Given the description of an element on the screen output the (x, y) to click on. 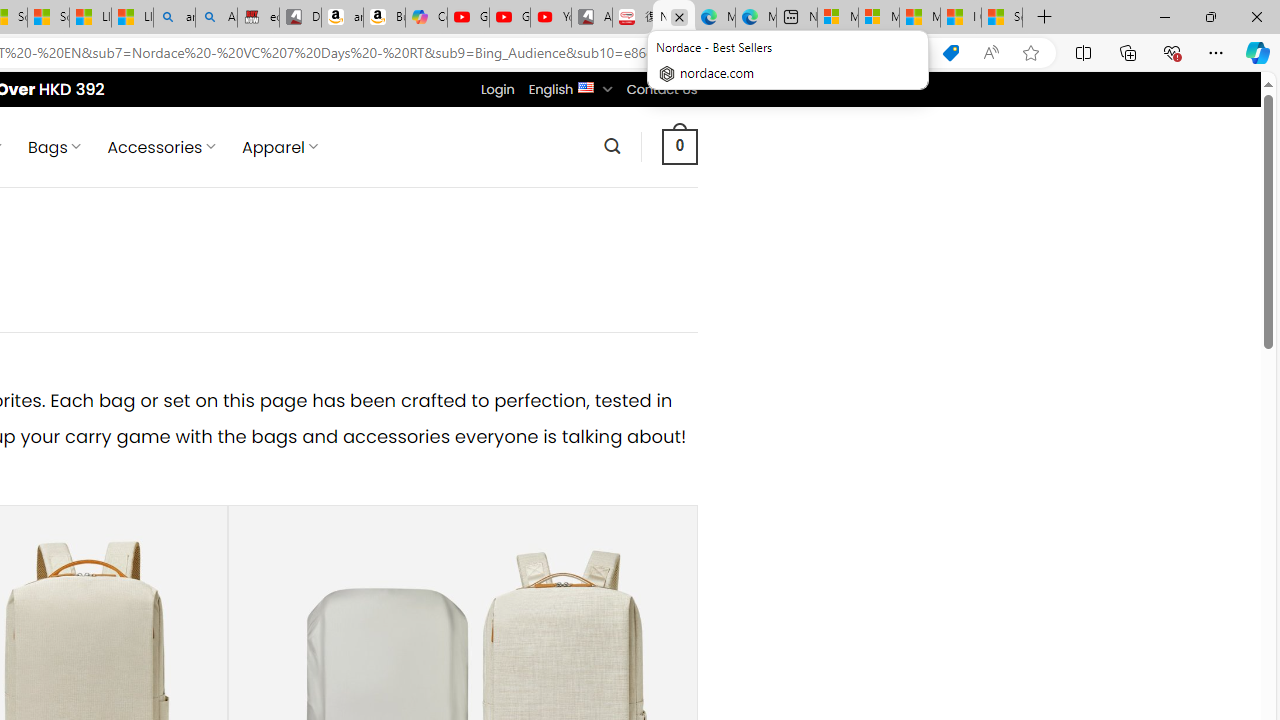
amazon.in/dp/B0CX59H5W7/?tag=gsmcom05-21 (342, 17)
New tab (796, 17)
Add this page to favorites (Ctrl+D) (1030, 53)
Nordace - Best Sellers (673, 17)
Contact Us (661, 89)
 0  (679, 146)
  0   (679, 146)
Gloom - YouTube (509, 17)
YouTube Kids - An App Created for Kids to Explore Content (550, 17)
New Tab (1044, 17)
Search (612, 146)
Settings and more (Alt+F) (1215, 52)
